Given the description of an element on the screen output the (x, y) to click on. 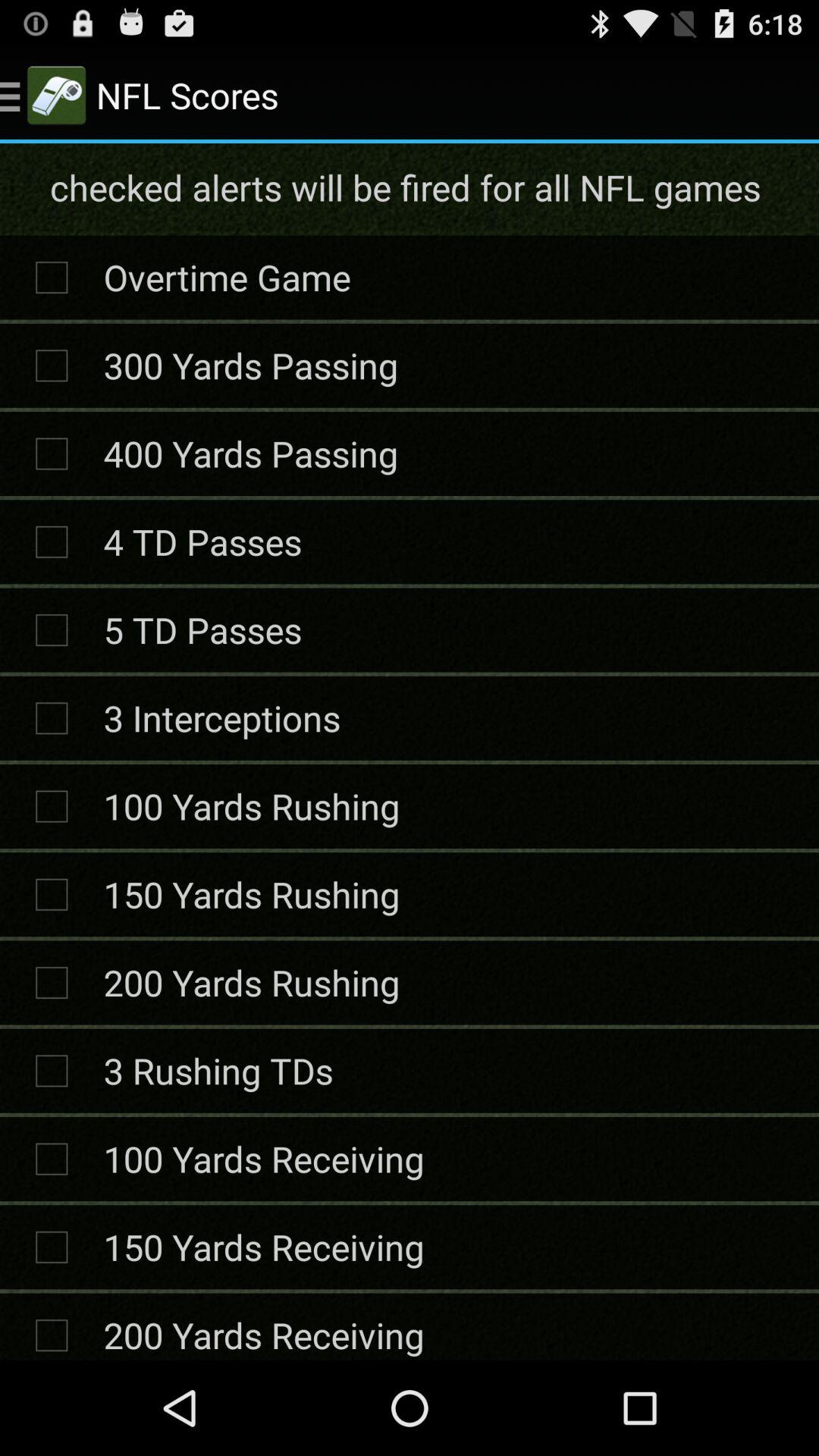
flip until checked alerts will (408, 187)
